Given the description of an element on the screen output the (x, y) to click on. 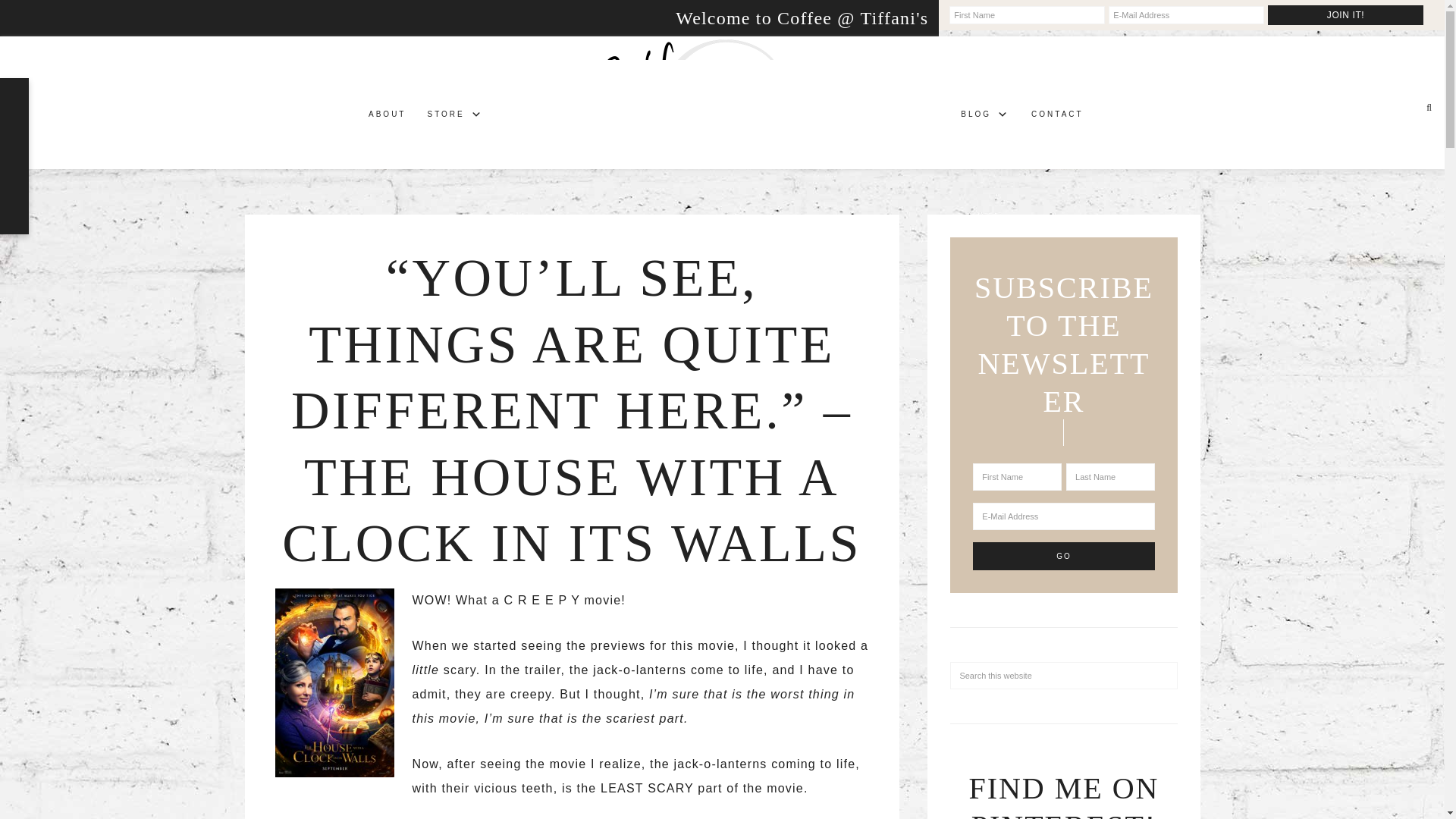
ABOUT (387, 117)
BLOG (985, 117)
Join it! (1345, 14)
Go (1063, 556)
CONTACT (1057, 117)
STORE (454, 117)
Join it! (1345, 14)
